Given the description of an element on the screen output the (x, y) to click on. 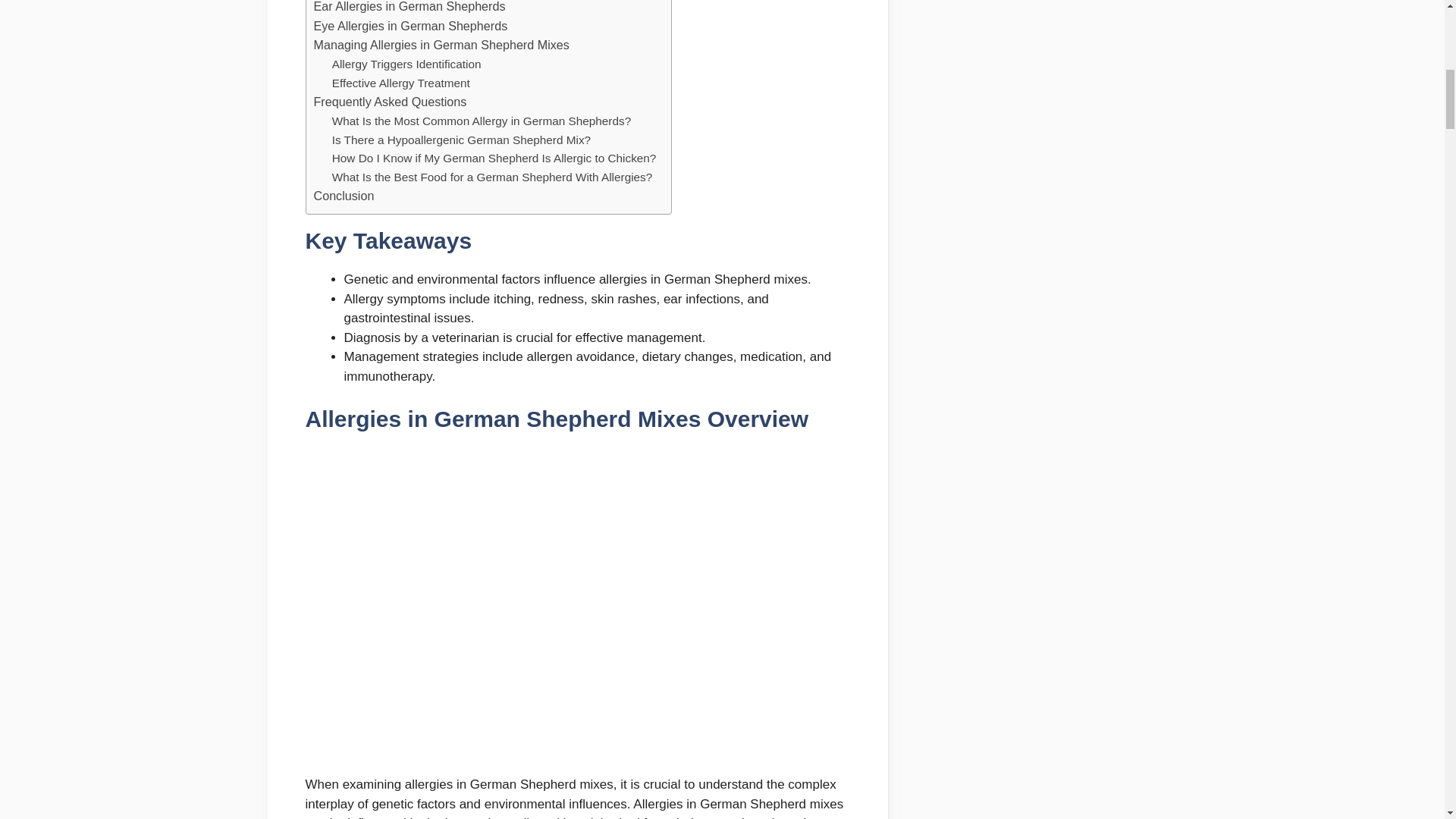
Allergy Triggers Identification (406, 64)
Eye Allergies in German Shepherds (411, 26)
What Is the Most Common Allergy in German Shepherds? (480, 121)
Is There a Hypoallergenic German Shepherd Mix? (461, 140)
Frequently Asked Questions (390, 102)
Effective Allergy Treatment (400, 83)
Managing Allergies in German Shepherd Mixes (441, 45)
What Is the Best Food for a German Shepherd With Allergies? (491, 177)
Conclusion (344, 196)
How Do I Know if My German Shepherd Is Allergic to Chicken? (493, 158)
